Given the description of an element on the screen output the (x, y) to click on. 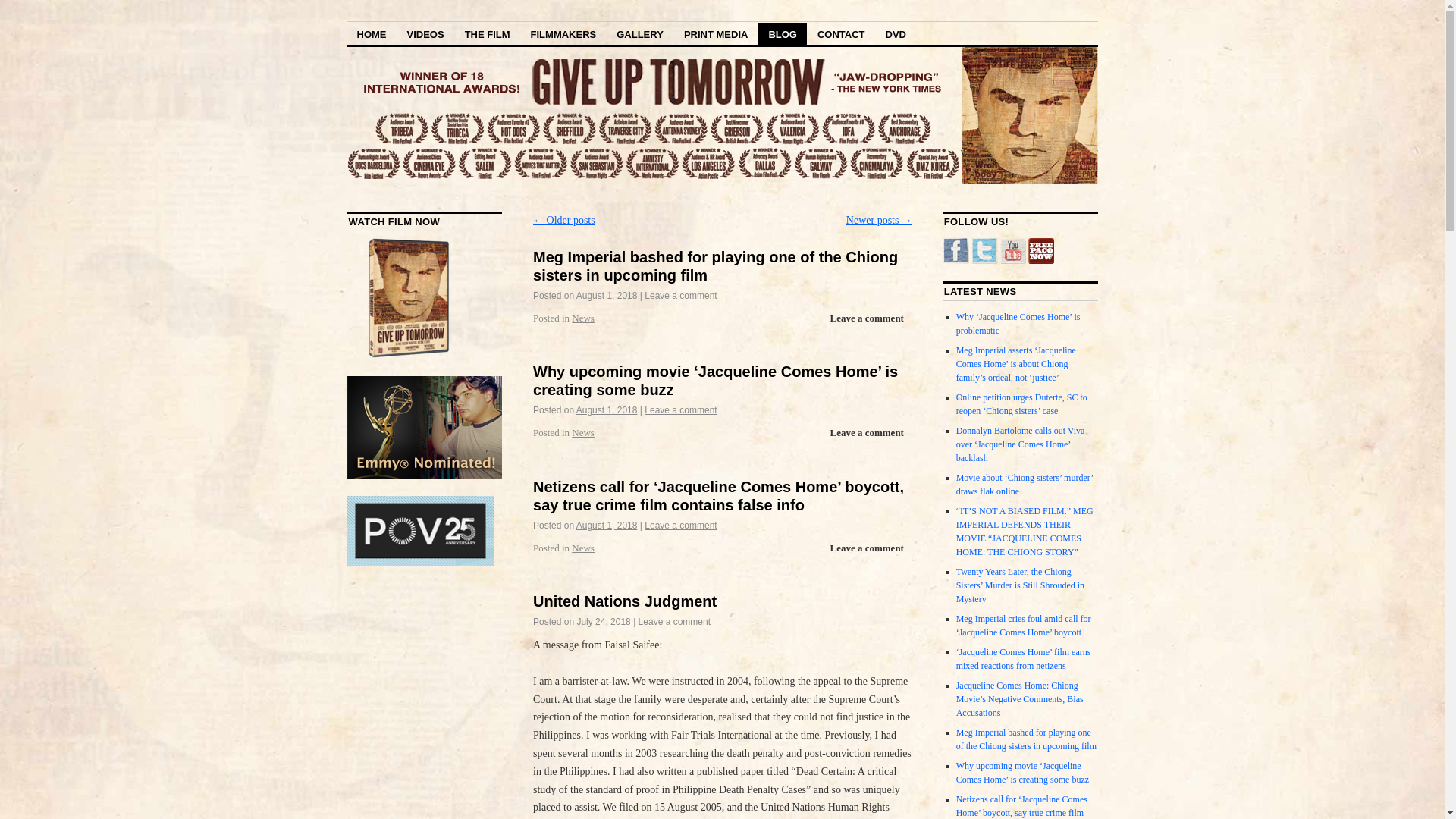
August 1, 2018 (606, 525)
August 1, 2018 (606, 409)
VIDEOS (425, 33)
Leave a comment (866, 433)
PRINT MEDIA (716, 33)
1:04 am (603, 621)
Leave a comment (680, 295)
CONTACT (841, 33)
Leave a comment (680, 409)
YouTube (1013, 260)
DVD (895, 33)
Facebook (956, 260)
Leave a comment (674, 621)
Leave a comment (680, 525)
News (583, 547)
